Given the description of an element on the screen output the (x, y) to click on. 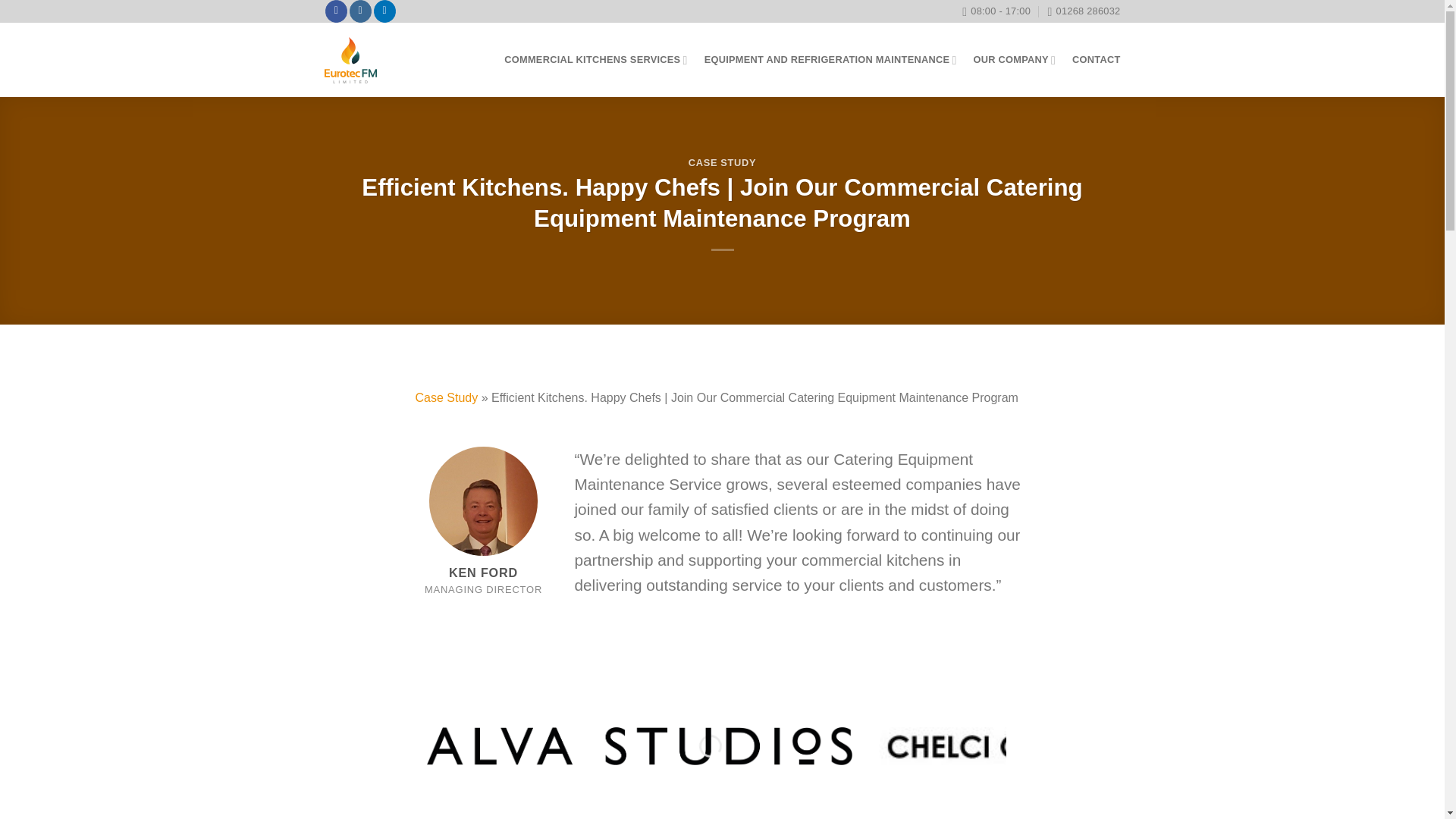
Case Study (446, 397)
01268 286032 (1082, 11)
CASE STUDY (721, 162)
CONTACT (1095, 59)
08:00 - 17:00  (996, 11)
01268 286032 (1082, 11)
OUR COMPANY (1015, 59)
Follow on Facebook (335, 11)
Follow on LinkedIn (385, 11)
Follow on Instagram (360, 11)
